Given the description of an element on the screen output the (x, y) to click on. 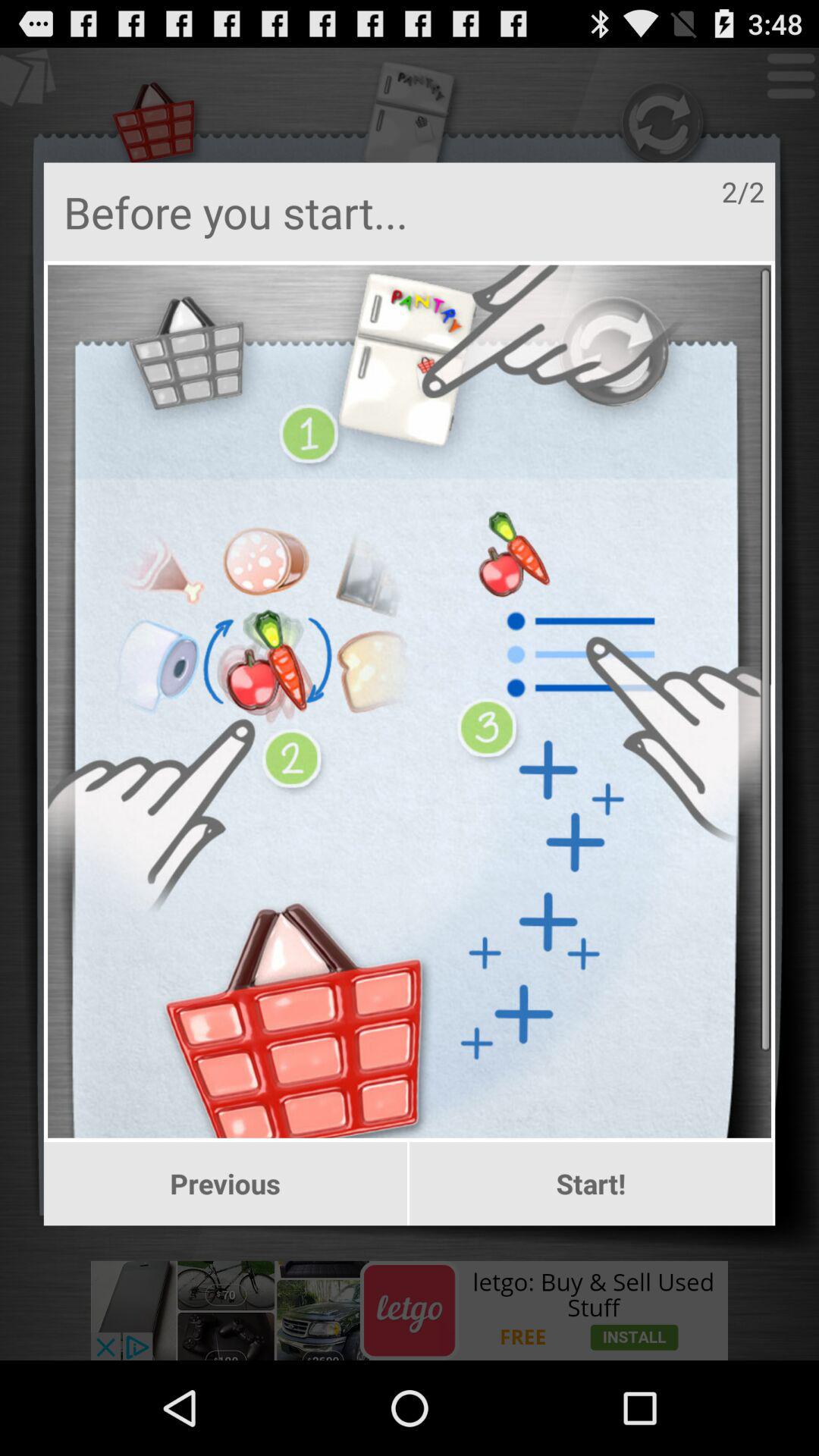
press the item to the left of start! item (225, 1183)
